Given the description of an element on the screen output the (x, y) to click on. 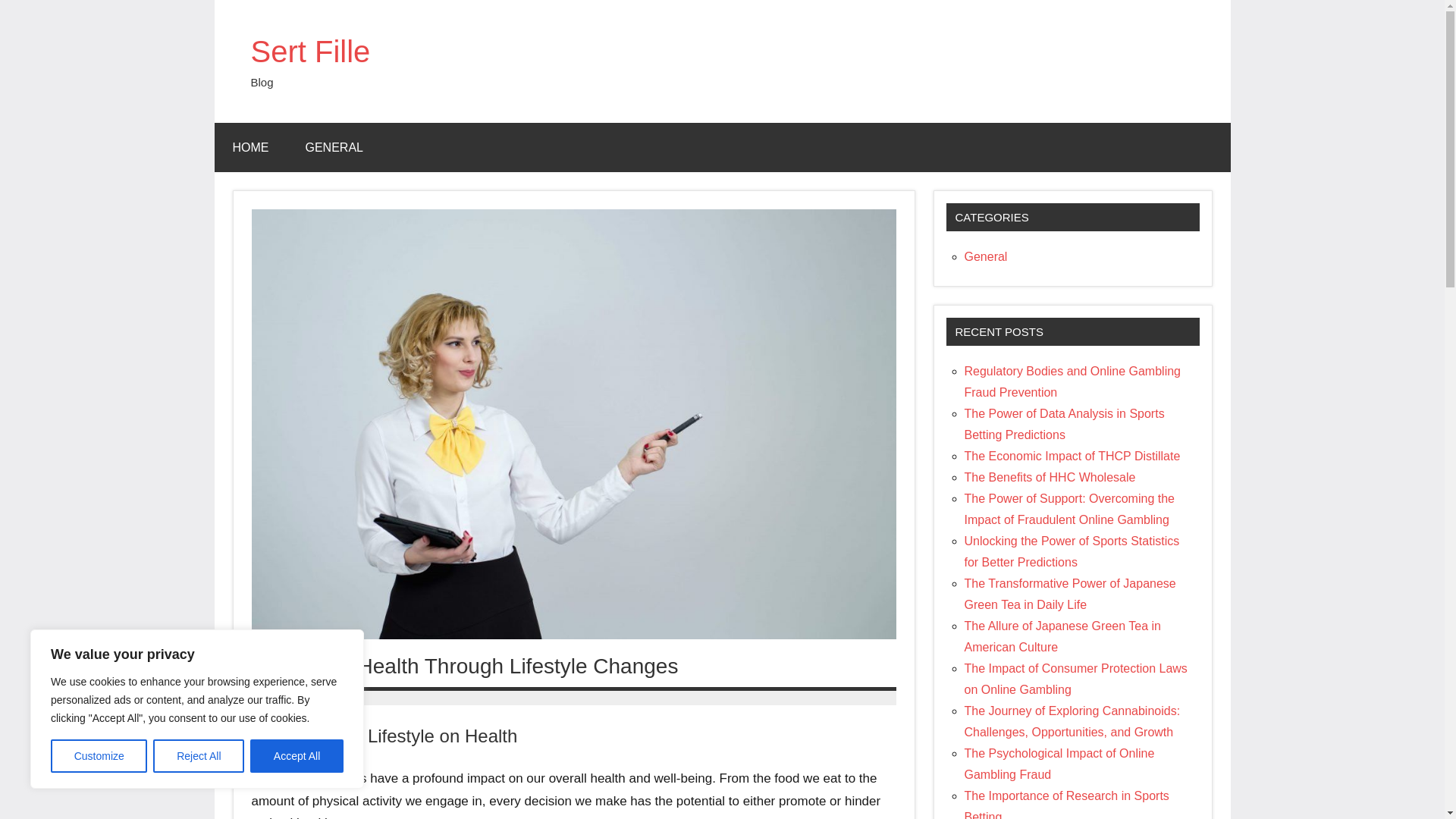
Sert Fille (309, 51)
The Power of Data Analysis in Sports Betting Predictions (1063, 424)
HOME (250, 146)
Reject All (198, 756)
Regulatory Bodies and Online Gambling Fraud Prevention (1071, 381)
The Benefits of HHC Wholesale (1049, 477)
Accept All (296, 756)
The Economic Impact of THCP Distillate (1071, 455)
GENERAL (333, 146)
General (985, 256)
Customize (98, 756)
